Given the description of an element on the screen output the (x, y) to click on. 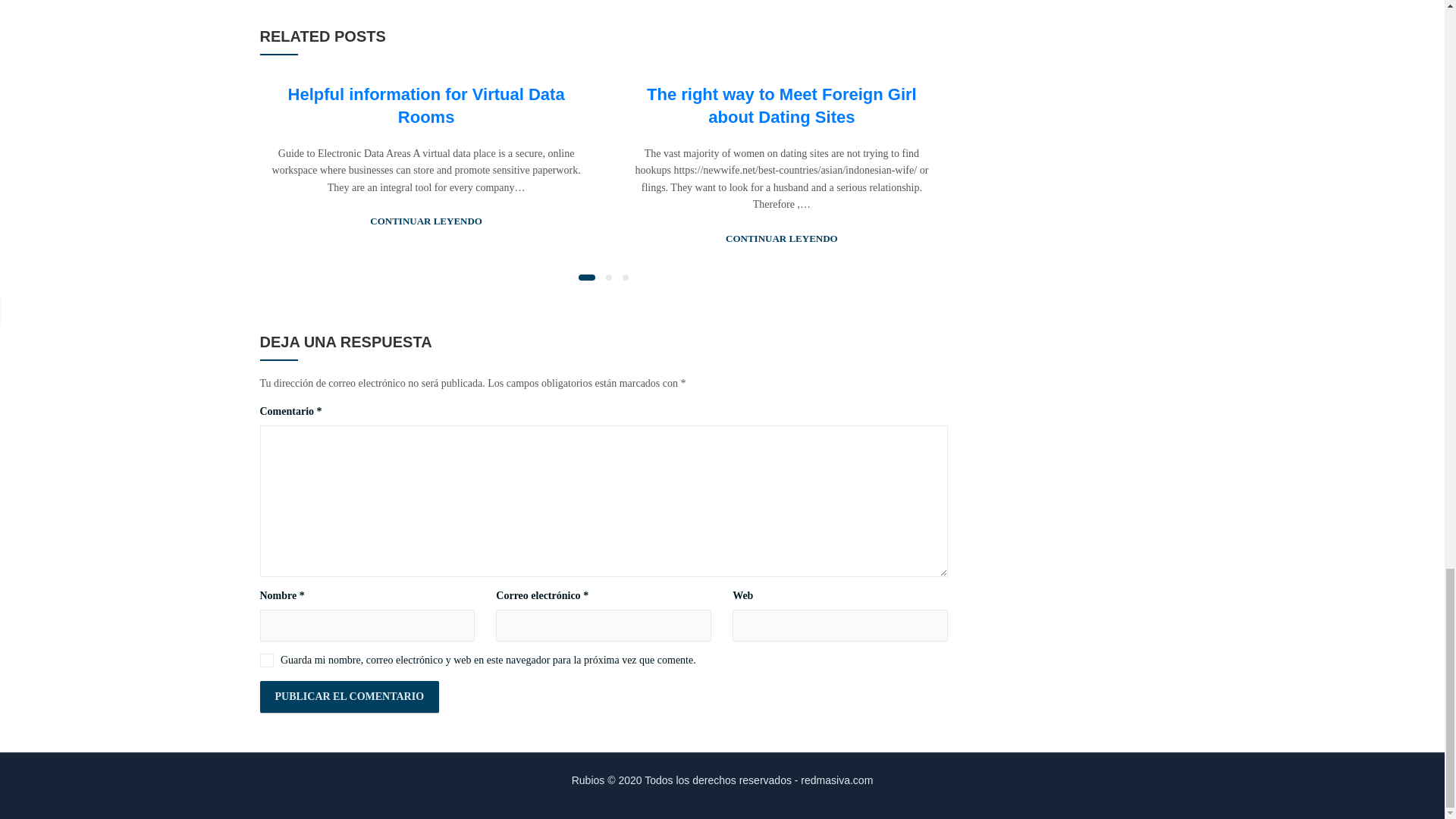
The right way to Meet Foreign Girl about Dating Sites (781, 105)
CONTINUAR LEYENDO (781, 238)
Helpful information for Virtual Data Rooms (426, 105)
yes (266, 660)
CONTINUAR LEYENDO (425, 221)
Publicar el comentario (349, 696)
